Given the description of an element on the screen output the (x, y) to click on. 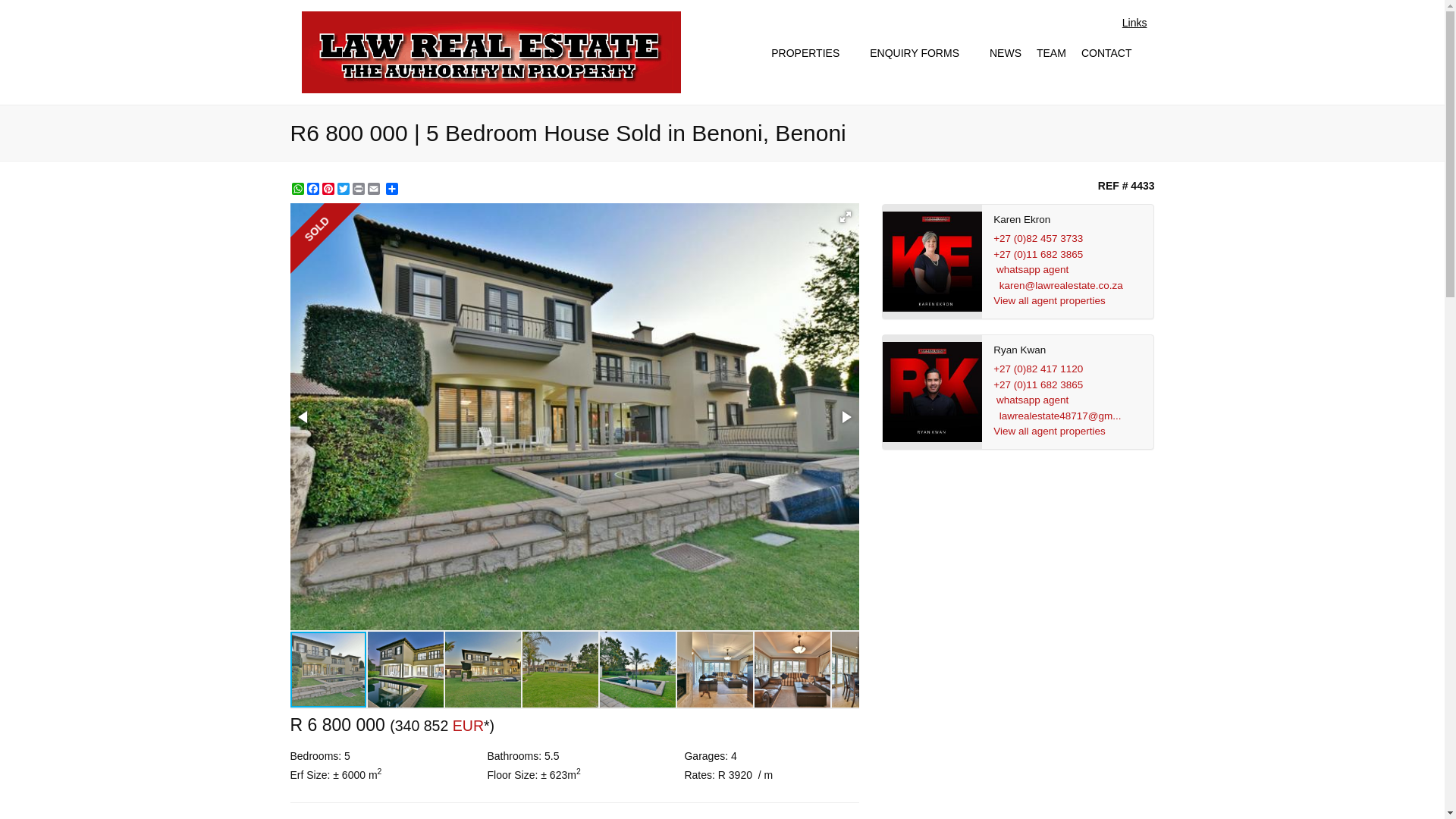
View all agent properties (1048, 300)
Facebook (312, 188)
ENQUIRY FORMS (921, 53)
Print (357, 188)
EUR (467, 725)
NEWS (1005, 53)
whatsapp agent (1031, 269)
Law Real Estate, Estate Agency Logo (491, 52)
WhatsApp (296, 188)
CONTACT (1114, 53)
Twitter (342, 188)
Links (1134, 22)
PROPERTIES (811, 53)
TEAM (1051, 53)
Pinterest (327, 188)
